Given the description of an element on the screen output the (x, y) to click on. 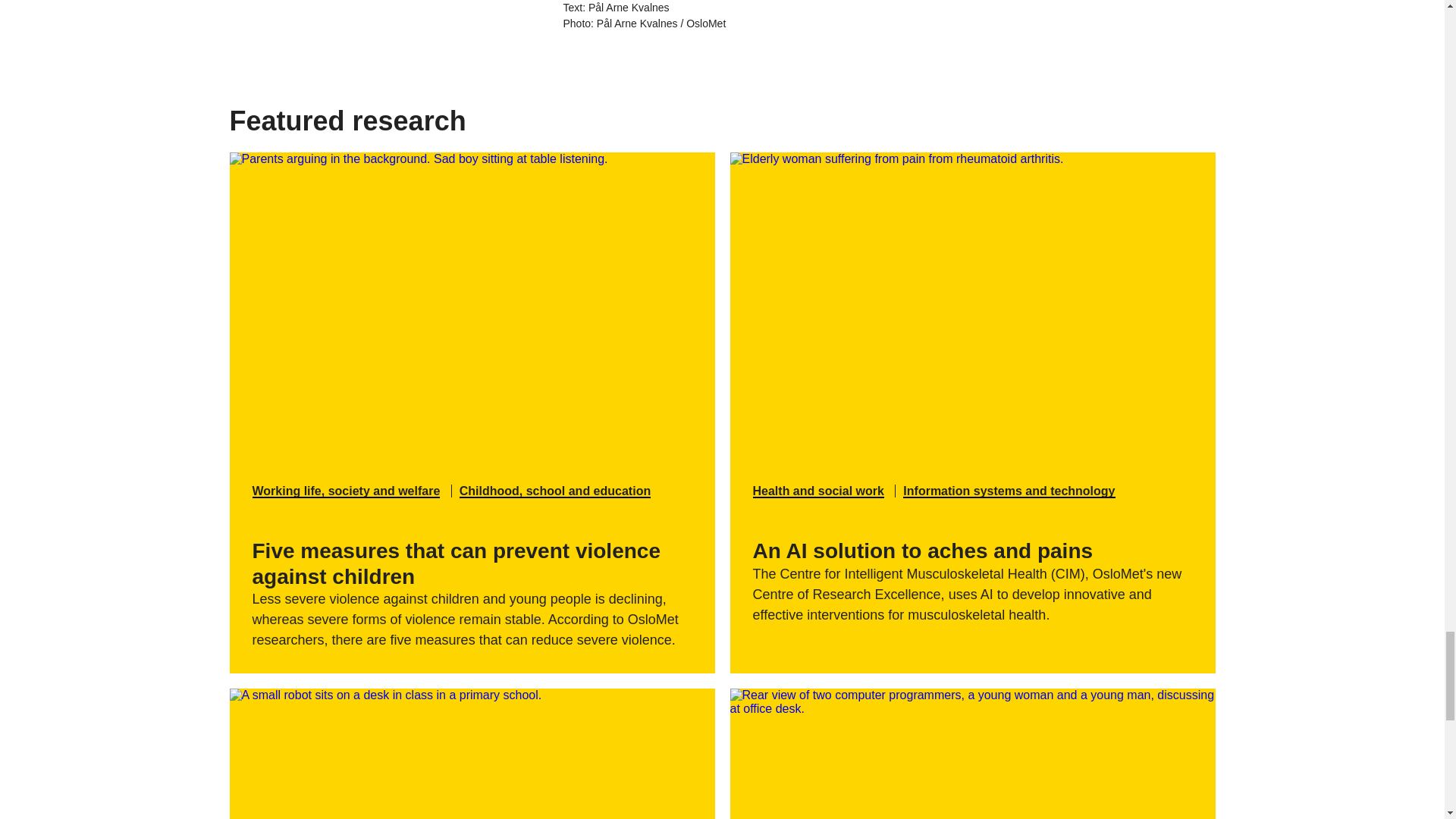
Childhood, school and education (555, 490)
Working life, society and welfare (345, 490)
Information systems and technology (1008, 490)
Health and social work (817, 490)
